Given the description of an element on the screen output the (x, y) to click on. 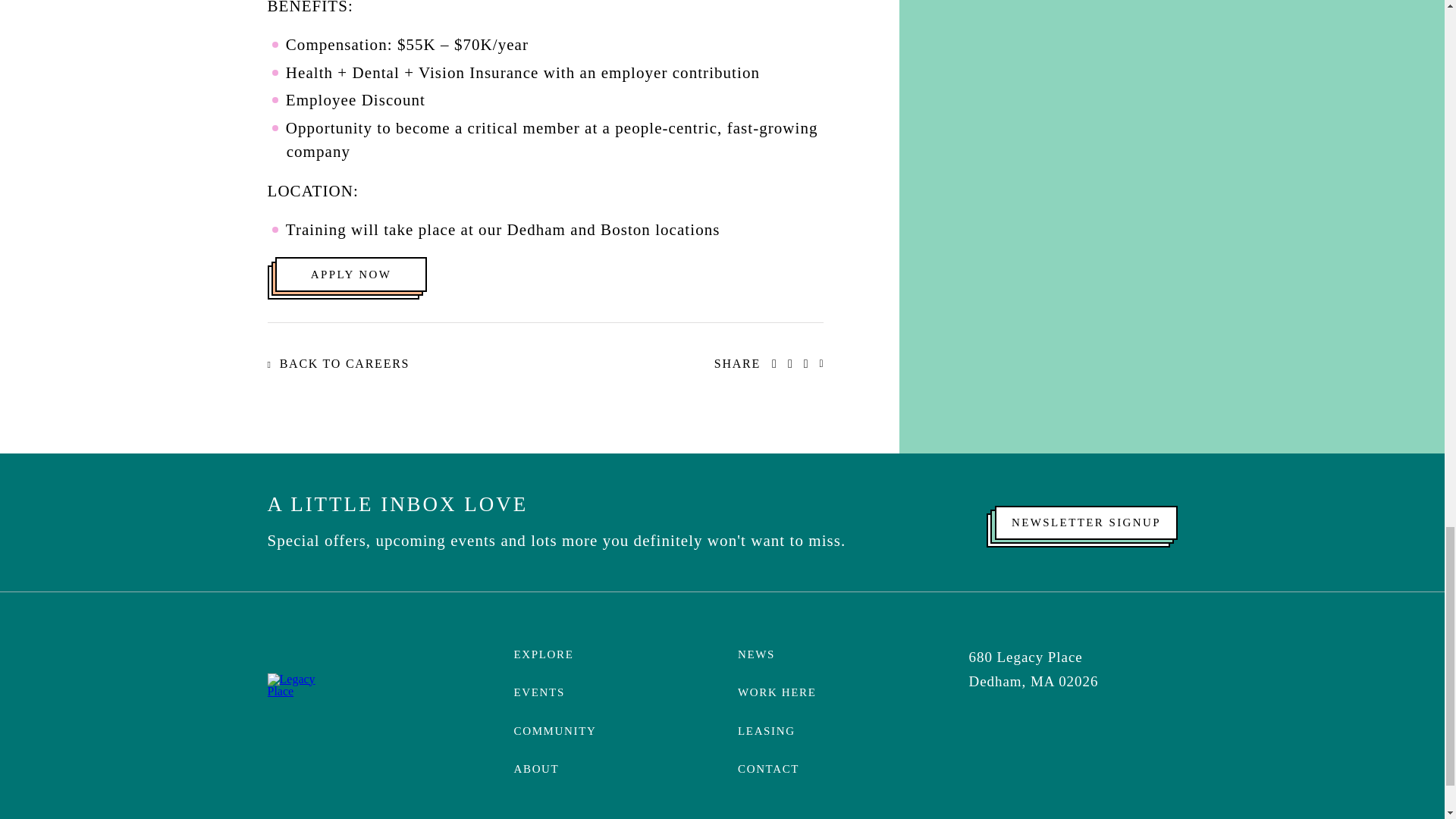
LEASING (766, 730)
NEWS (756, 654)
BACK TO CAREERS (337, 363)
EVENTS (538, 692)
ABOUT (536, 768)
WORK HERE (777, 692)
COMMUNITY (554, 730)
CONTACT (768, 768)
EXPLORE (543, 654)
NEWSLETTER SIGNUP (1085, 522)
